Given the description of an element on the screen output the (x, y) to click on. 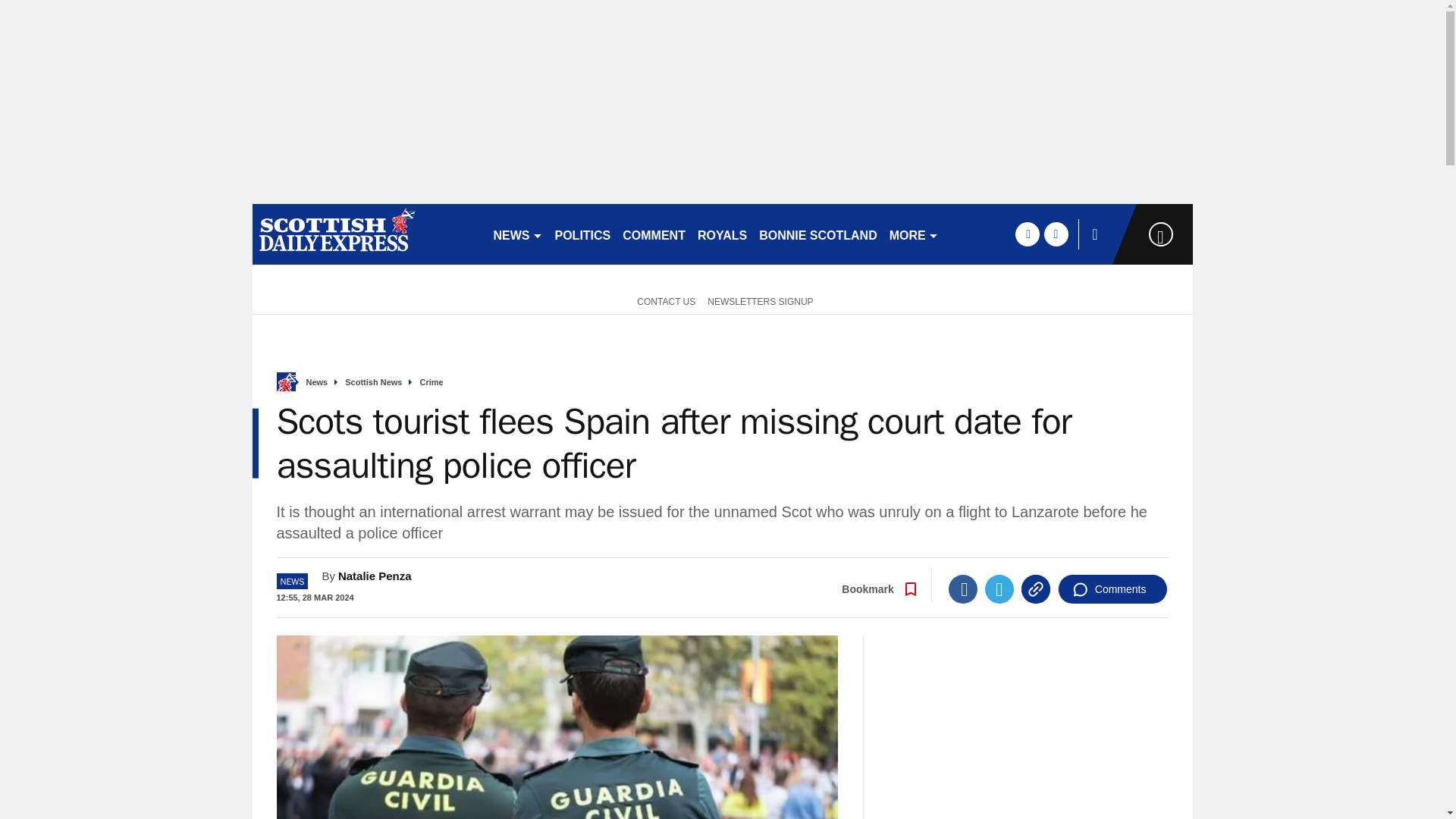
POLITICS (582, 233)
NEWS (517, 233)
Comments (1112, 588)
COMMENT (653, 233)
Twitter (999, 588)
BONNIE SCOTLAND (817, 233)
frontpage (285, 381)
MORE (913, 233)
ROYALS (721, 233)
scottishdailyexpress (365, 233)
Facebook (962, 588)
News (317, 382)
twitter (1055, 233)
facebook (1026, 233)
NEWSLETTERS SIGNUP (759, 300)
